Given the description of an element on the screen output the (x, y) to click on. 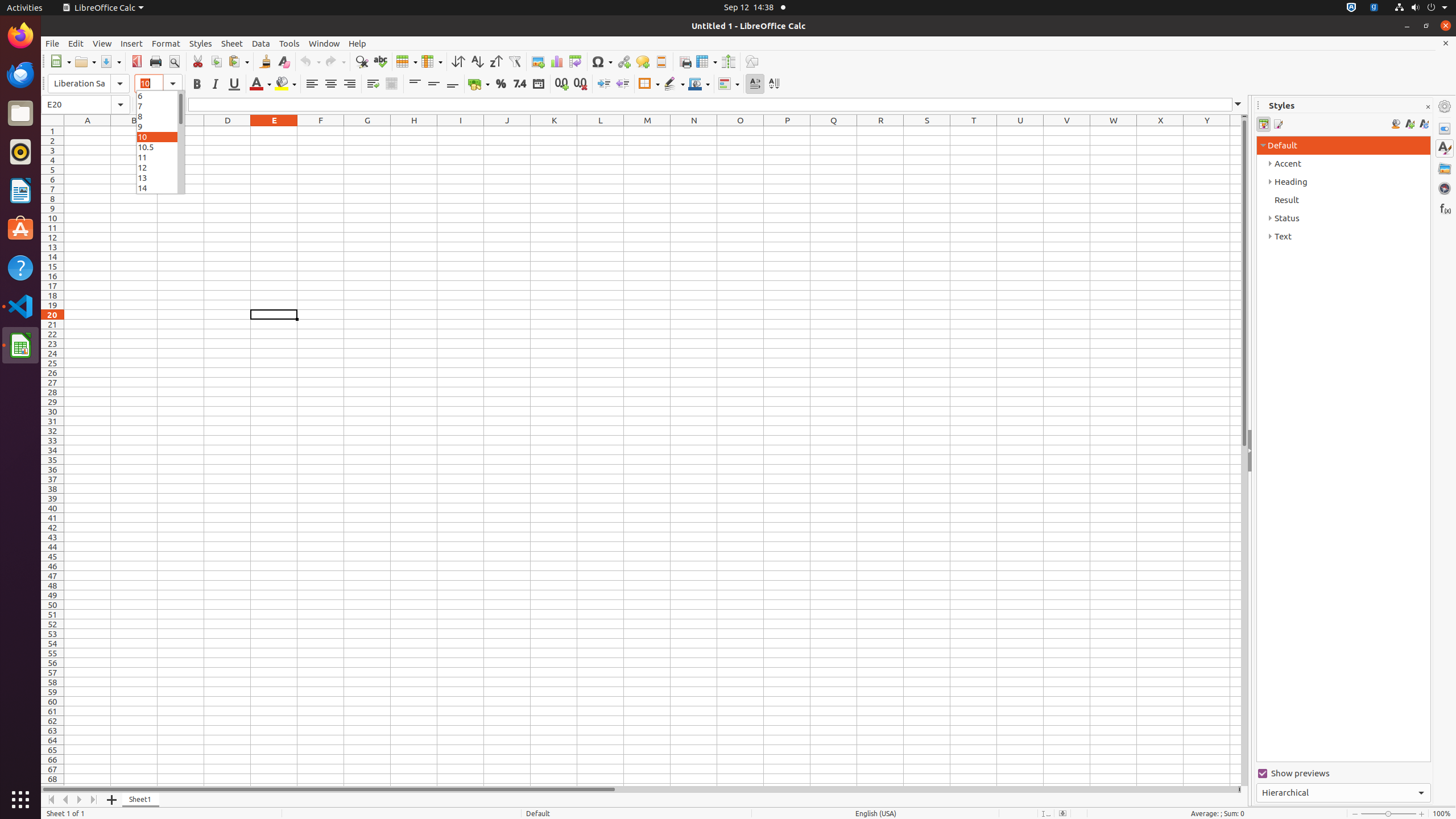
Center Vertically Element type: push-button (433, 83)
Move To Home Element type: push-button (51, 799)
Horizontal scroll bar Element type: scroll-bar (639, 789)
Align Center Element type: push-button (330, 83)
Align Right Element type: push-button (349, 83)
